Given the description of an element on the screen output the (x, y) to click on. 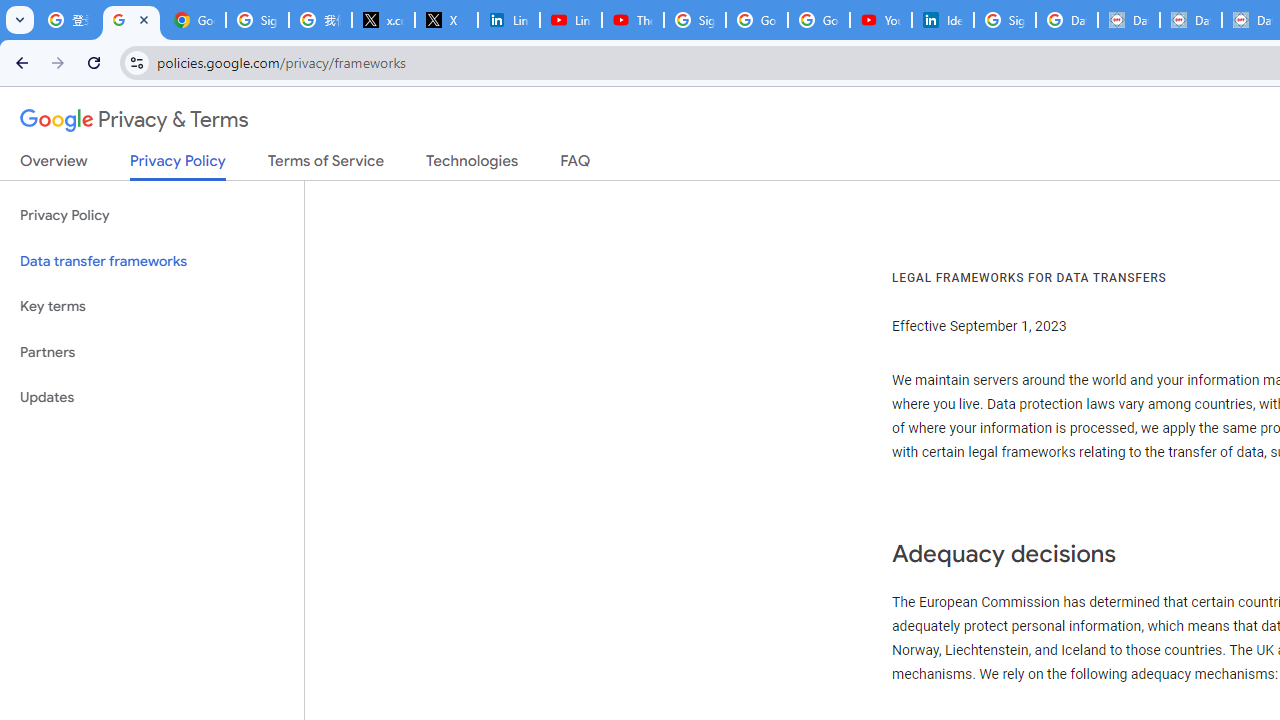
LinkedIn Privacy Policy (508, 20)
Data Privacy Framework (1190, 20)
Data Privacy Framework (1128, 20)
